Given the description of an element on the screen output the (x, y) to click on. 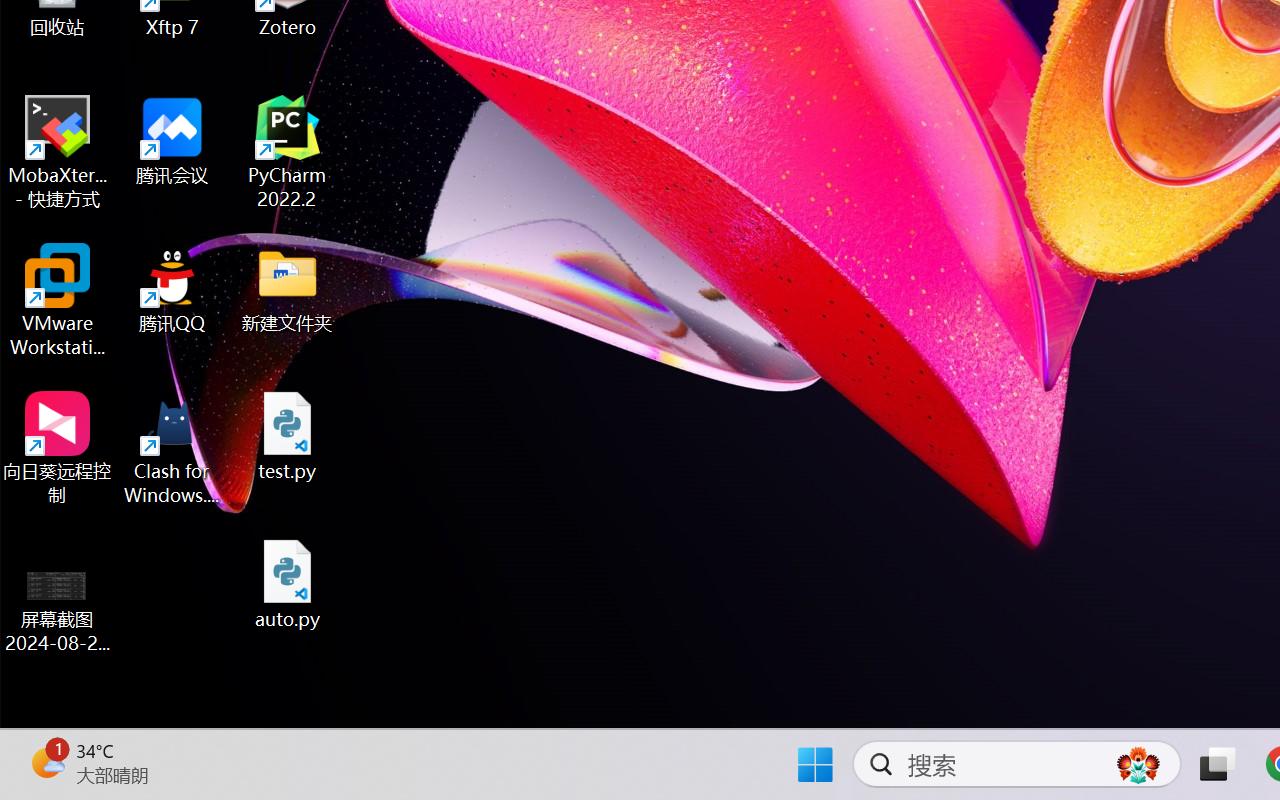
remote (34, 705)
